Given the description of an element on the screen output the (x, y) to click on. 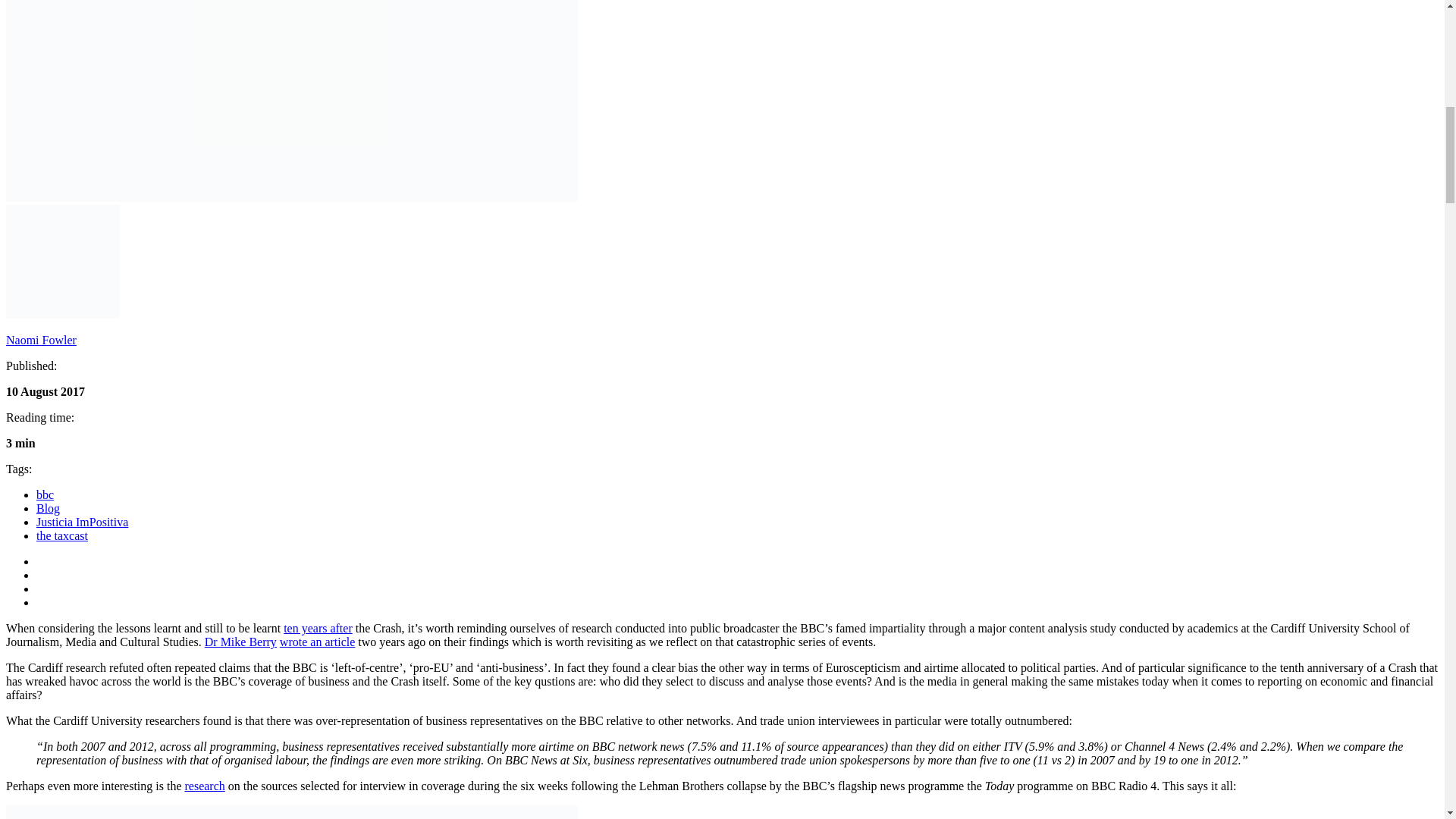
Posts by Naomi Fowler (41, 339)
bbc (44, 494)
CityVoicesMediaBias (291, 100)
the taxcast (61, 535)
Naomi Fowler (41, 339)
Blog (47, 508)
Justicia ImPositiva (82, 521)
